Given the description of an element on the screen output the (x, y) to click on. 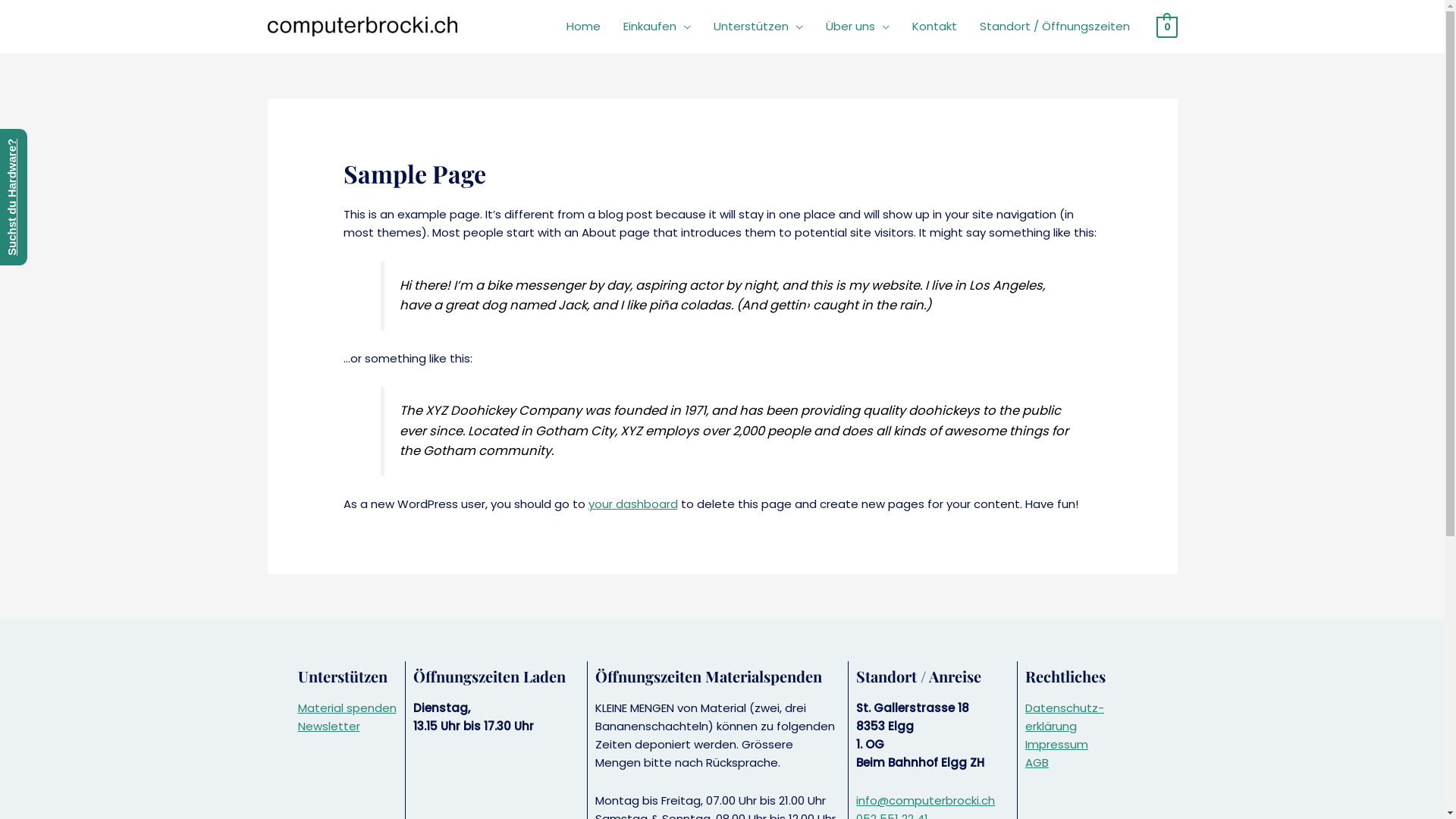
Impressum Element type: text (1056, 744)
Material spenden Element type: text (346, 707)
Newsletter Element type: text (328, 726)
your dashboard Element type: text (632, 503)
0 Element type: text (1166, 26)
Einkaufen Element type: text (656, 26)
Home Element type: text (583, 26)
AGB Element type: text (1036, 762)
info@computerbrocki.ch Element type: text (925, 800)
Kontakt Element type: text (934, 26)
